Given the description of an element on the screen output the (x, y) to click on. 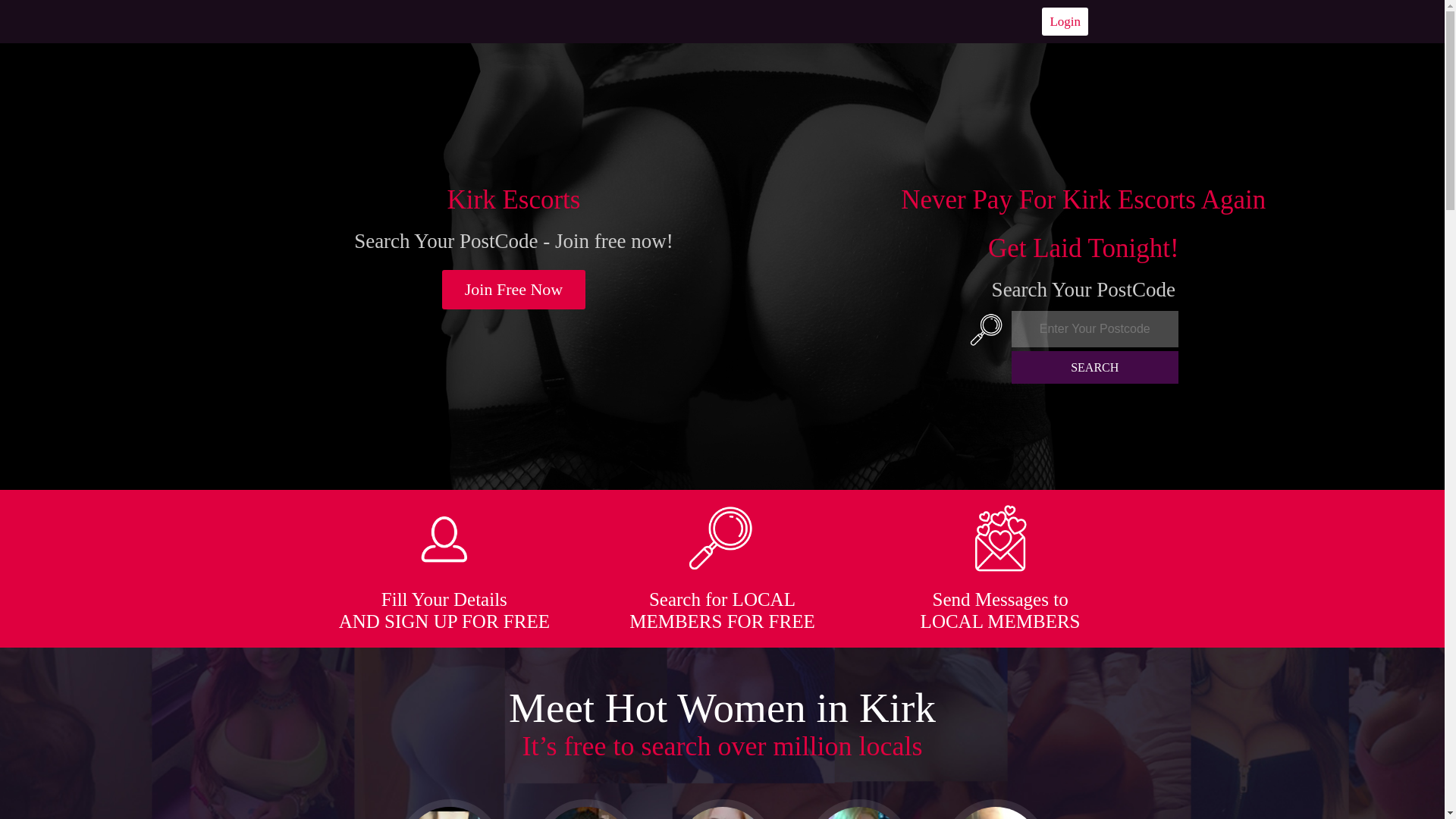
Login (1064, 21)
Join (514, 289)
Login (1064, 21)
Join Free Now (514, 289)
SEARCH (1094, 367)
